Given the description of an element on the screen output the (x, y) to click on. 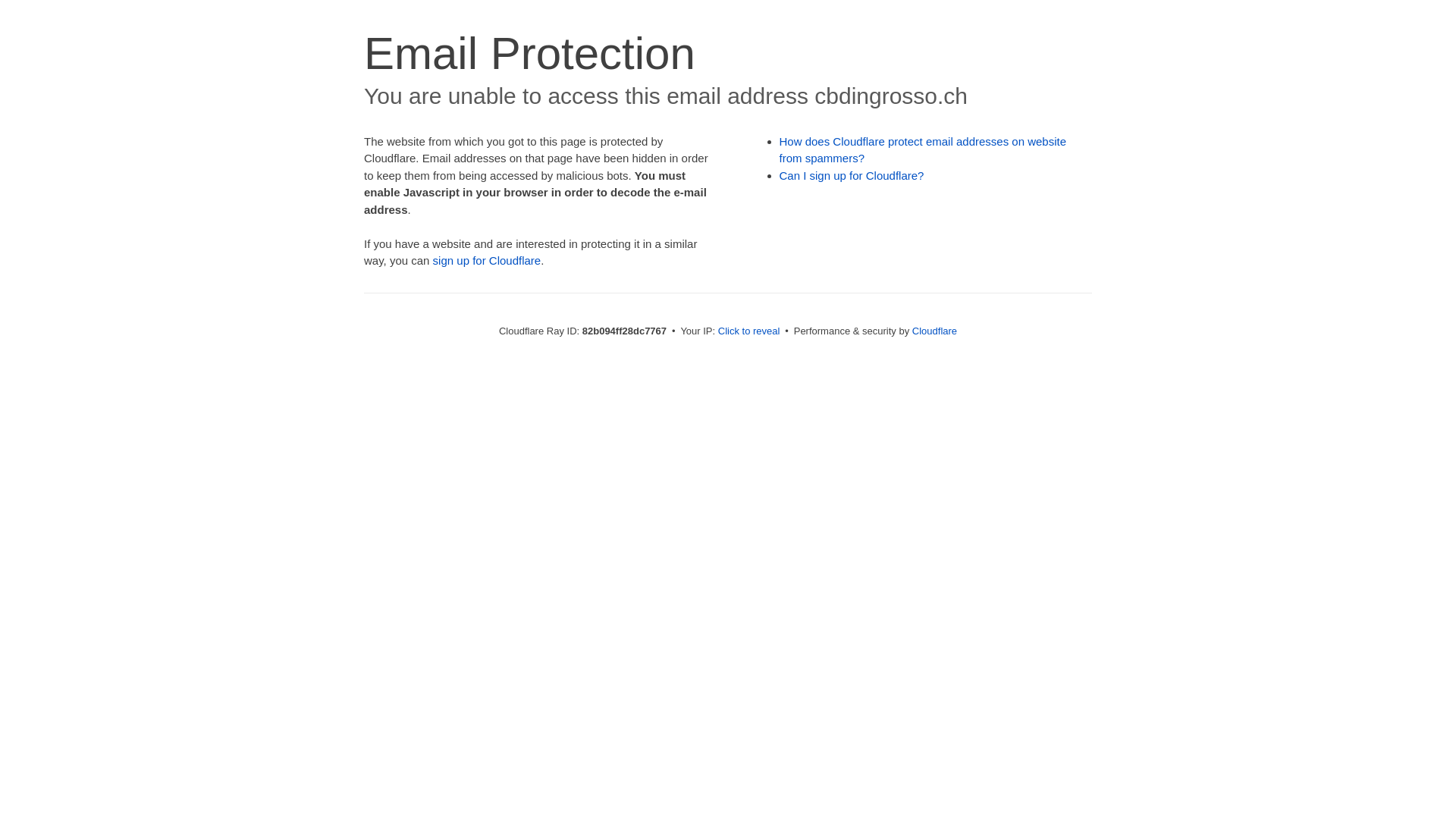
sign up for Cloudflare Element type: text (487, 260)
Click to reveal Element type: text (749, 330)
Can I sign up for Cloudflare? Element type: text (851, 175)
Cloudflare Element type: text (934, 330)
